Given the description of an element on the screen output the (x, y) to click on. 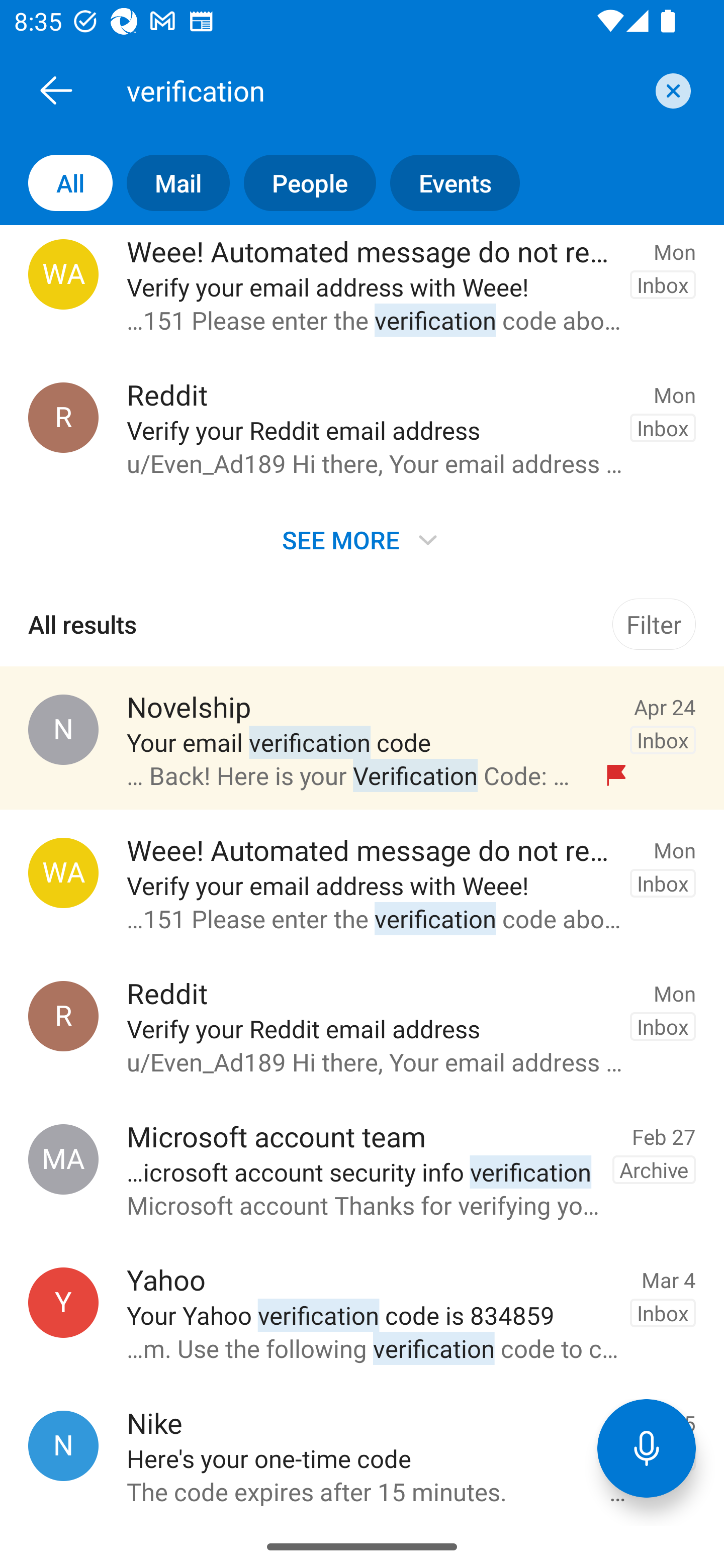
Back (55, 89)
verification (384, 89)
clear search (670, 90)
Mail (170, 183)
People (302, 183)
Events (447, 183)
SEE MORE See More (362, 539)
Filter (653, 623)
Voice Assistant (646, 1447)
